Given the description of an element on the screen output the (x, y) to click on. 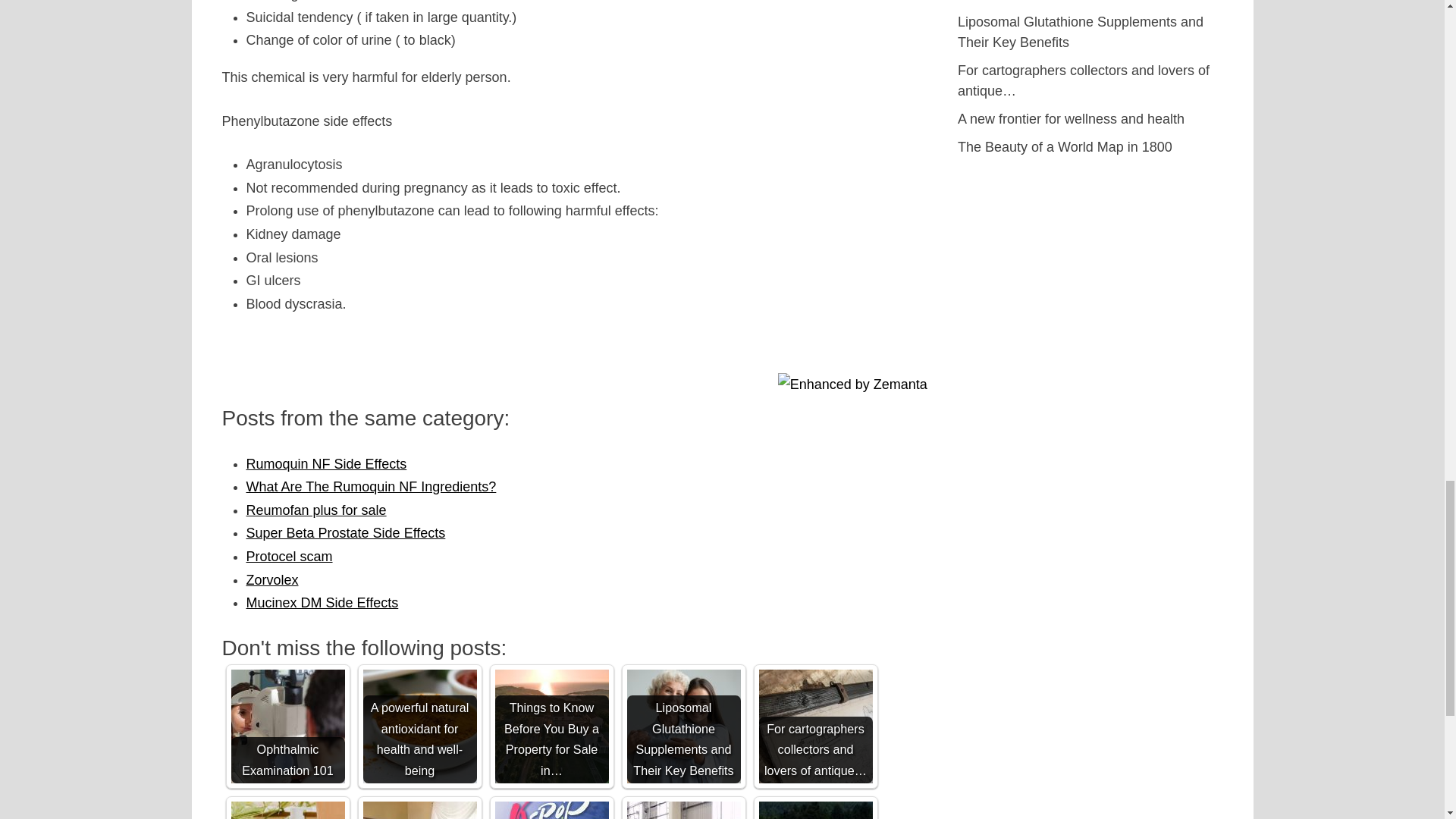
Protocel scam (288, 556)
Liposomal Glutathione Supplements and Their Key Benefits (682, 725)
Ophthalmic Examination 101 (286, 725)
A powerful natural antioxidant for health and well-being (419, 725)
Mucinex DM Side Effects (321, 602)
What Are The Rumoquin NF Ingredients? (371, 486)
Super Beta Prostate Side Effects (345, 532)
Rumoquin NF Side Effects (326, 463)
Zorvolex (272, 580)
Reumofan plus for sale (315, 509)
